Given the description of an element on the screen output the (x, y) to click on. 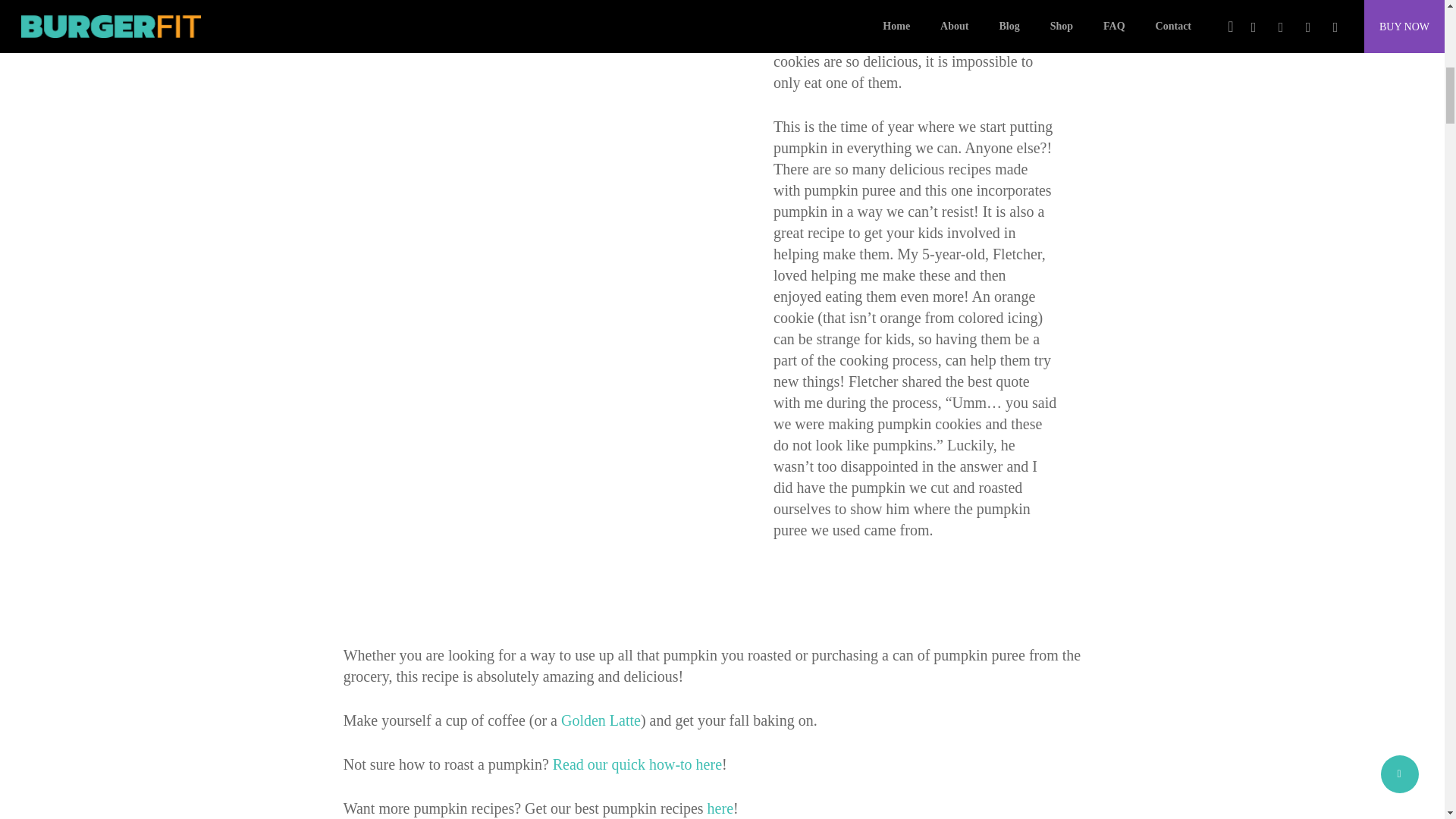
Read our quick how-to here (637, 764)
Gluten-free (808, 2)
Golden Latte (600, 719)
here (720, 808)
